Given the description of an element on the screen output the (x, y) to click on. 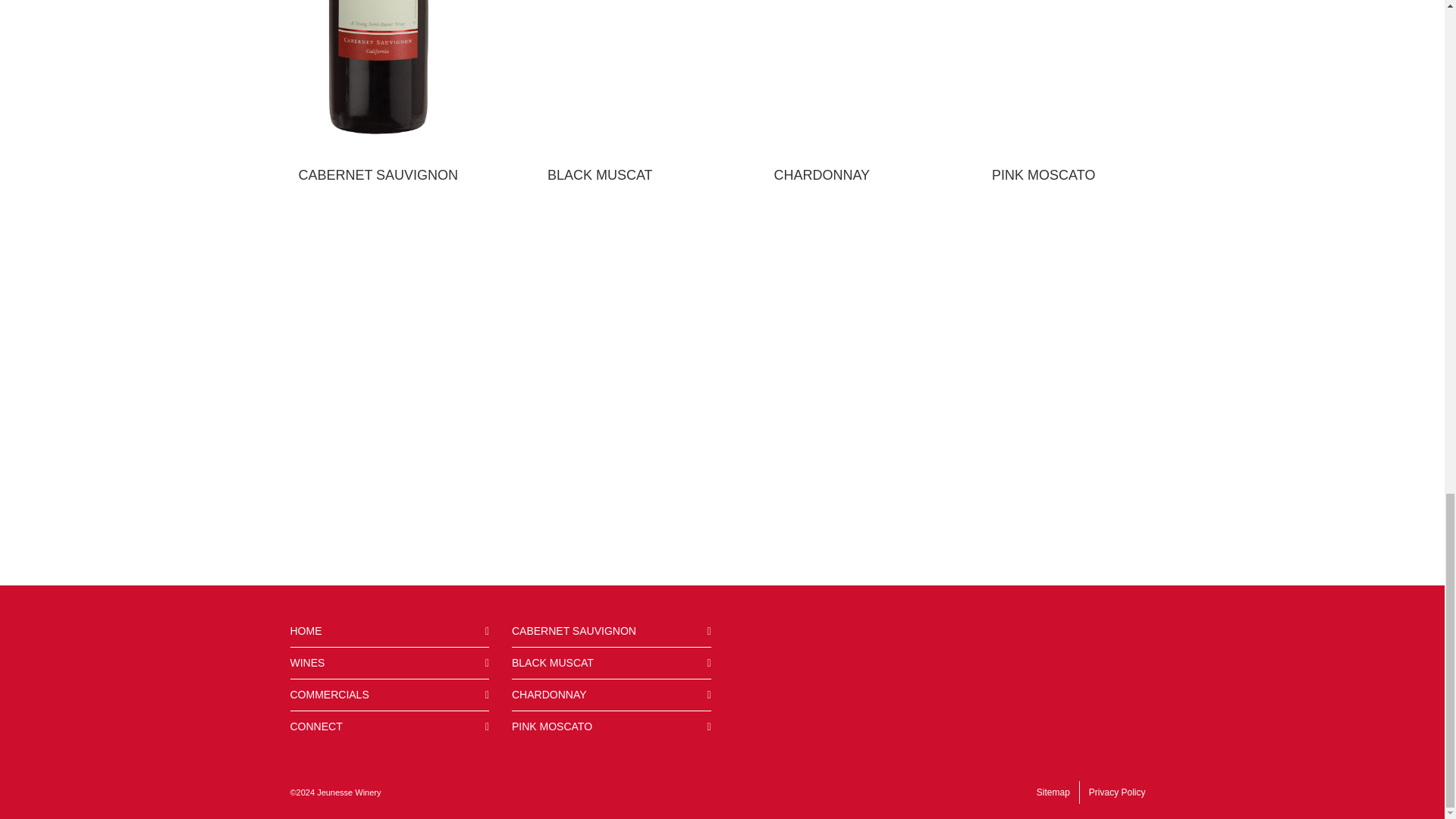
Privacy Policy (1117, 792)
CABERNET SAUVIGNON (611, 631)
PINK MOSCATO (611, 726)
WINES (389, 662)
LEARN MORE (599, 223)
CONNECT (389, 726)
CHARDONNAY (611, 694)
LEARN MORE (821, 223)
Sitemap (1052, 792)
LEARN MORE (377, 223)
COMMERCIALS (389, 694)
LEARN MORE (1043, 223)
HOME (389, 631)
BLACK MUSCAT (611, 662)
